Given the description of an element on the screen output the (x, y) to click on. 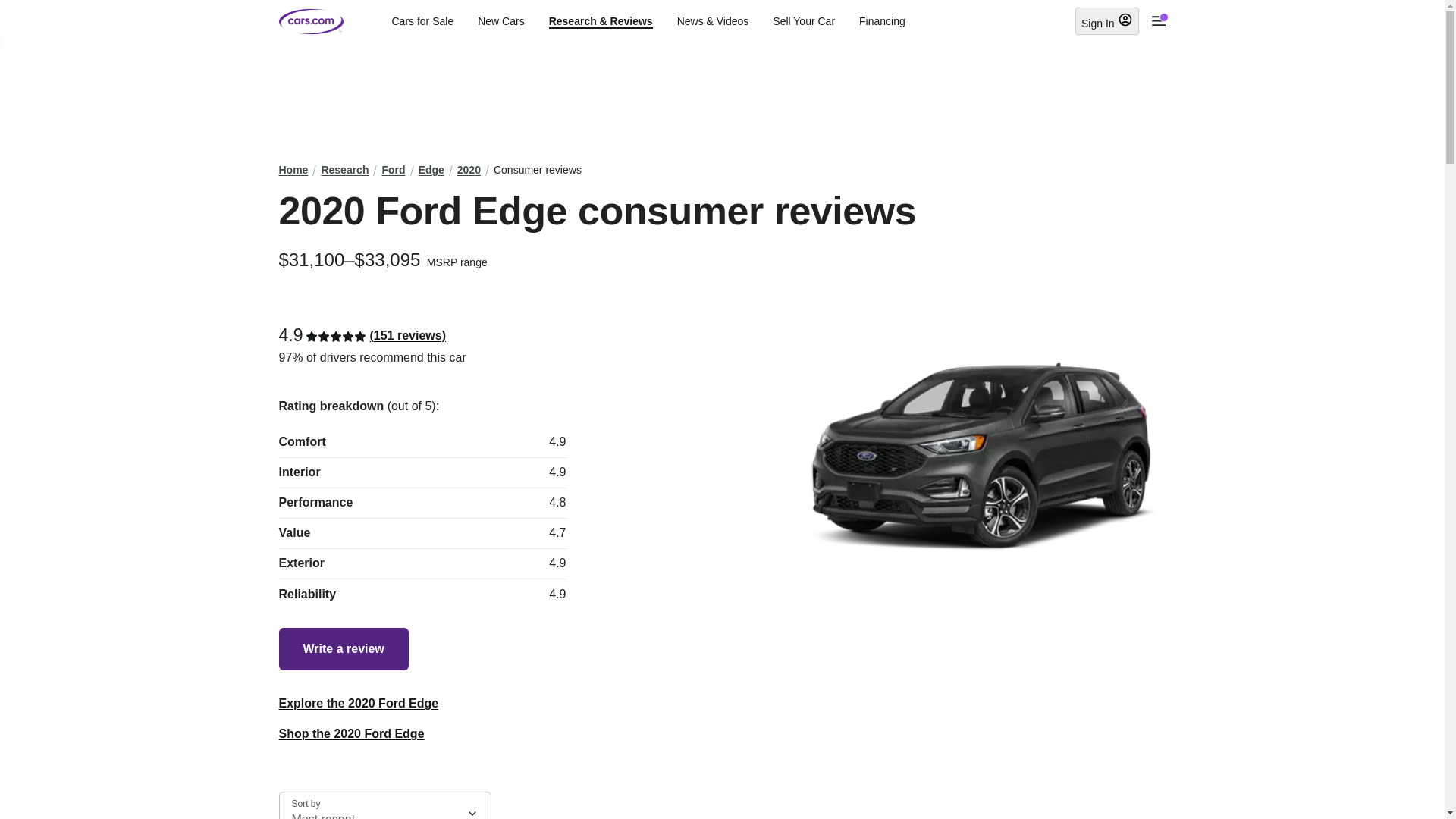
Cars for Sale (421, 21)
Edge (431, 170)
Ford (392, 170)
Write a review (344, 649)
2020 (468, 170)
Shop the 2020 Ford Edge (352, 733)
Sell Your Car (803, 21)
Financing (882, 21)
Home (293, 170)
Research (344, 170)
